Given the description of an element on the screen output the (x, y) to click on. 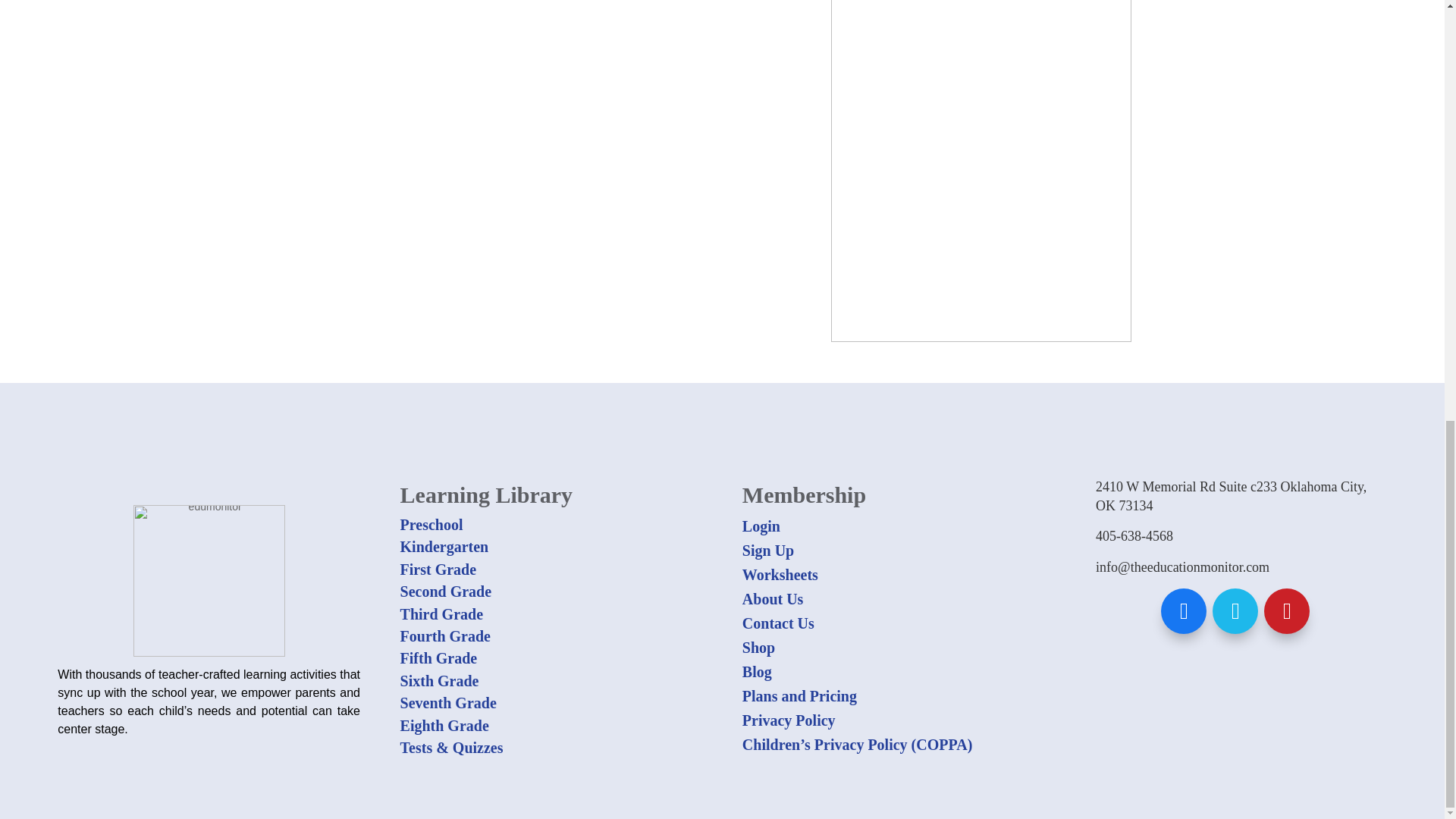
Third Grade (441, 614)
Preschool (431, 524)
First Grade (438, 569)
Follow on X (1234, 610)
Kindergarten (444, 546)
Follow on Pinterest (1285, 610)
Second Grade (446, 591)
Follow on Facebook (1183, 610)
edumonitor (209, 580)
